Given the description of an element on the screen output the (x, y) to click on. 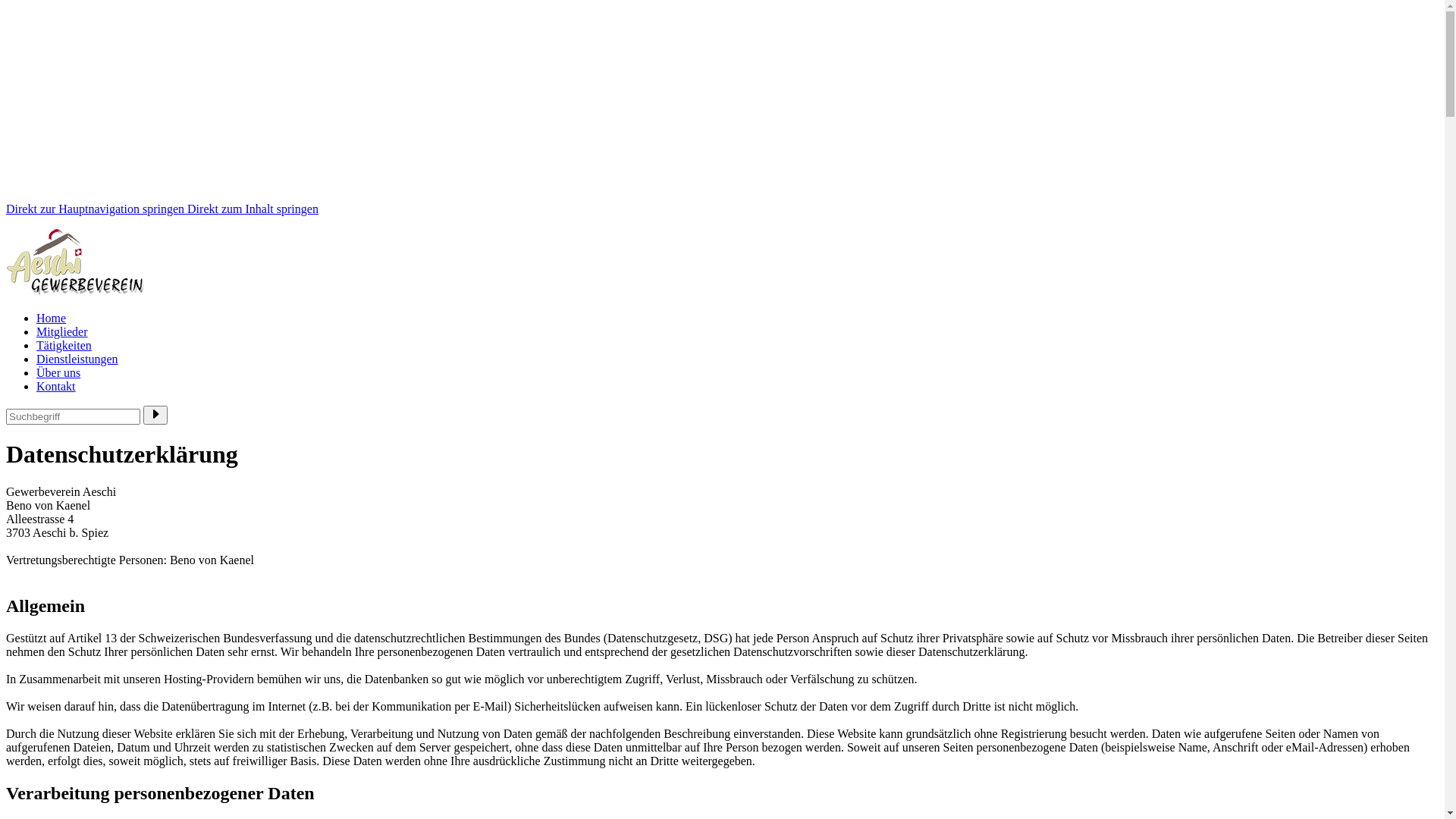
Mitglieder Element type: text (61, 331)
Aeschi Gwaerb Element type: hover (75, 262)
Direkt zur Hauptnavigation springen Element type: text (96, 208)
Dienstleistungen Element type: text (77, 358)
Home Element type: text (50, 317)
Direkt zum Inhalt springen Element type: text (252, 208)
Kontakt Element type: text (55, 385)
